Given the description of an element on the screen output the (x, y) to click on. 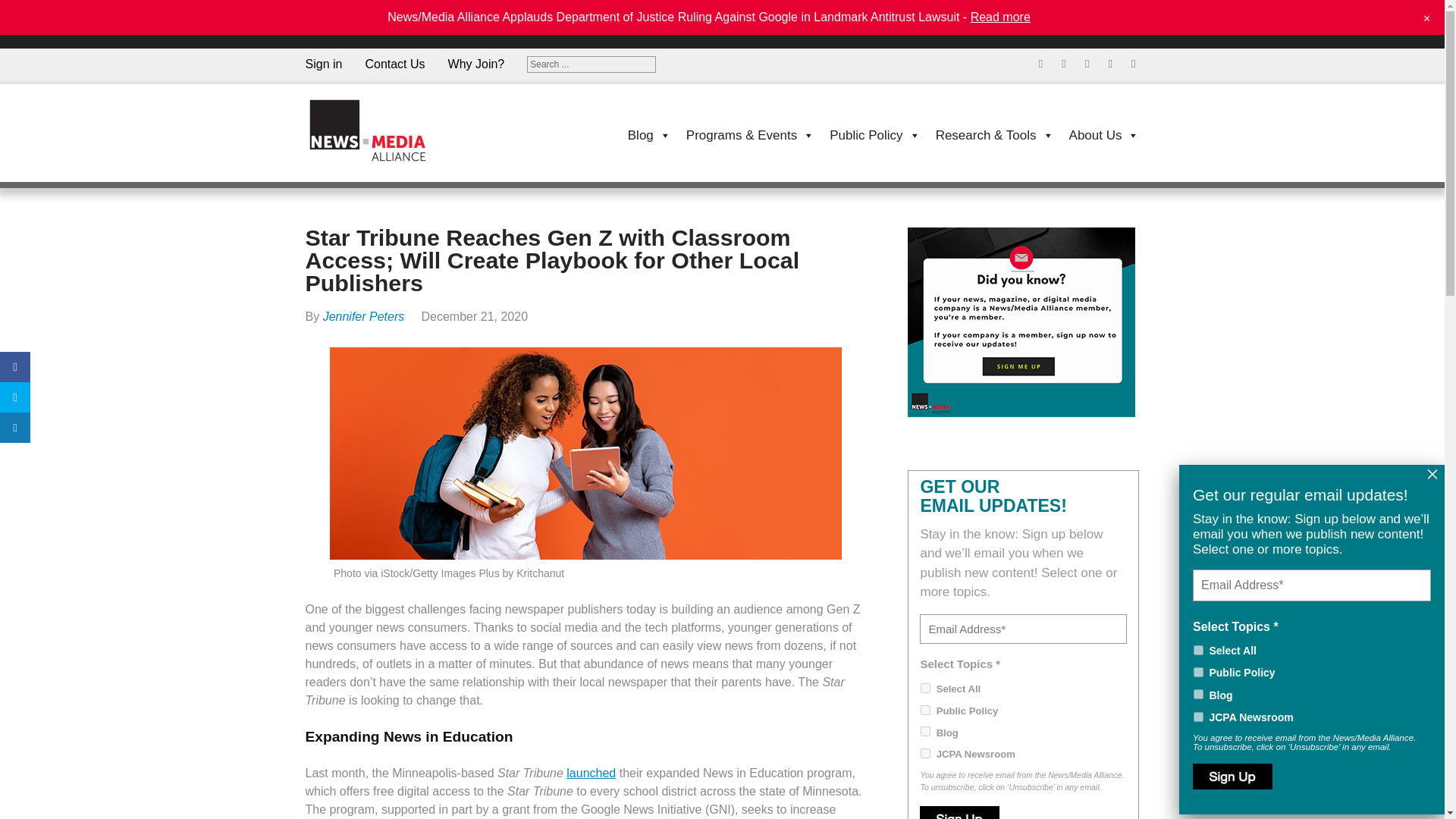
JCPA Newsroom (1198, 716)
Jennifer Peters (363, 316)
JCPA Newsroom (925, 753)
on (1198, 650)
Why Join? (487, 64)
Search ... (591, 64)
Contact Us (405, 64)
Public Policy (925, 709)
Blog (925, 731)
Blog (641, 134)
